Given the description of an element on the screen output the (x, y) to click on. 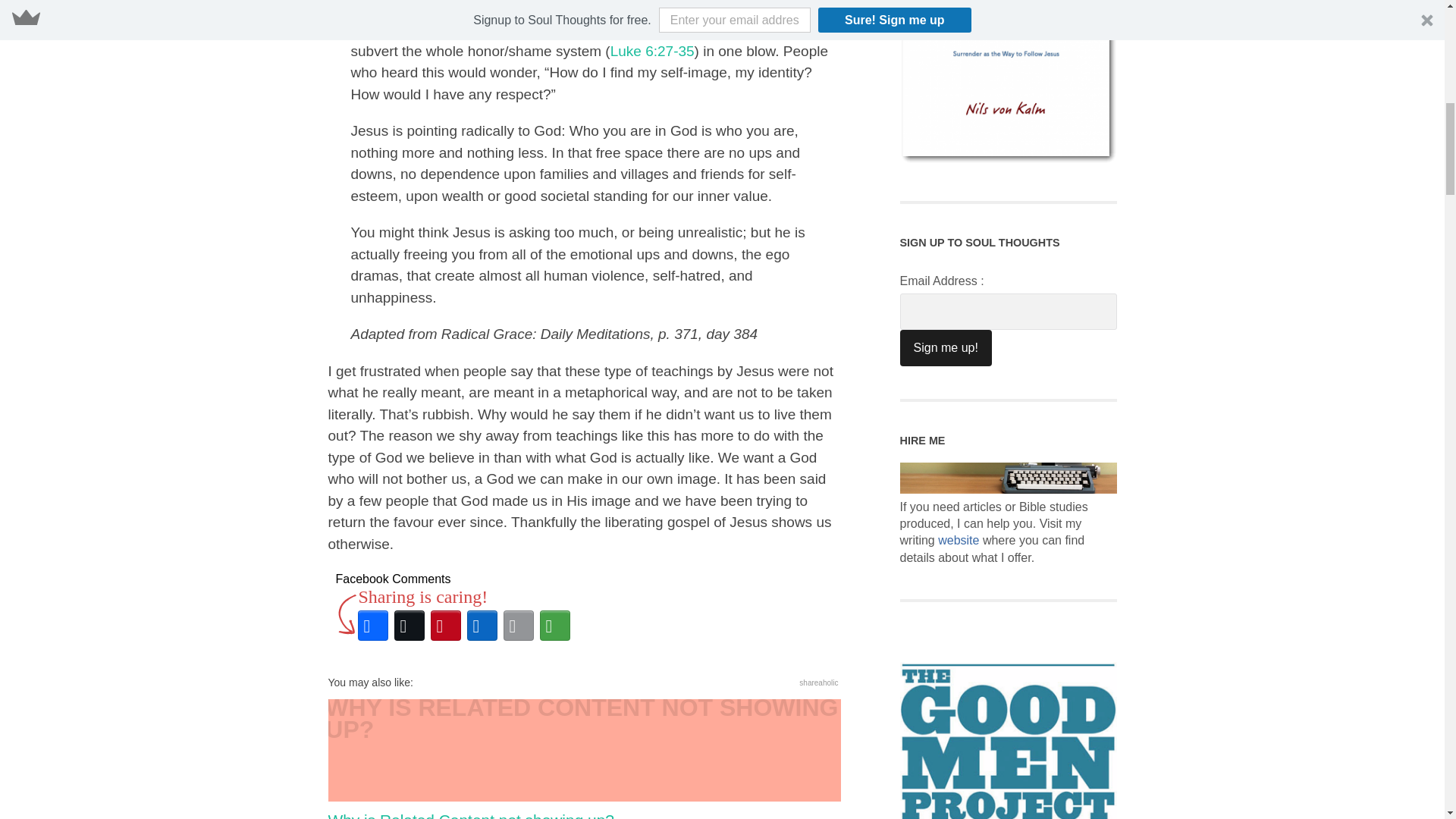
Luke 6:27-35 (652, 50)
Facebook (373, 625)
Pinterest (446, 625)
LinkedIn (482, 625)
More Options (555, 625)
Why is Related Content not showing up? (583, 759)
Sign me up! (945, 348)
Email This (518, 625)
Website Tools by Shareaholic (818, 682)
